Given the description of an element on the screen output the (x, y) to click on. 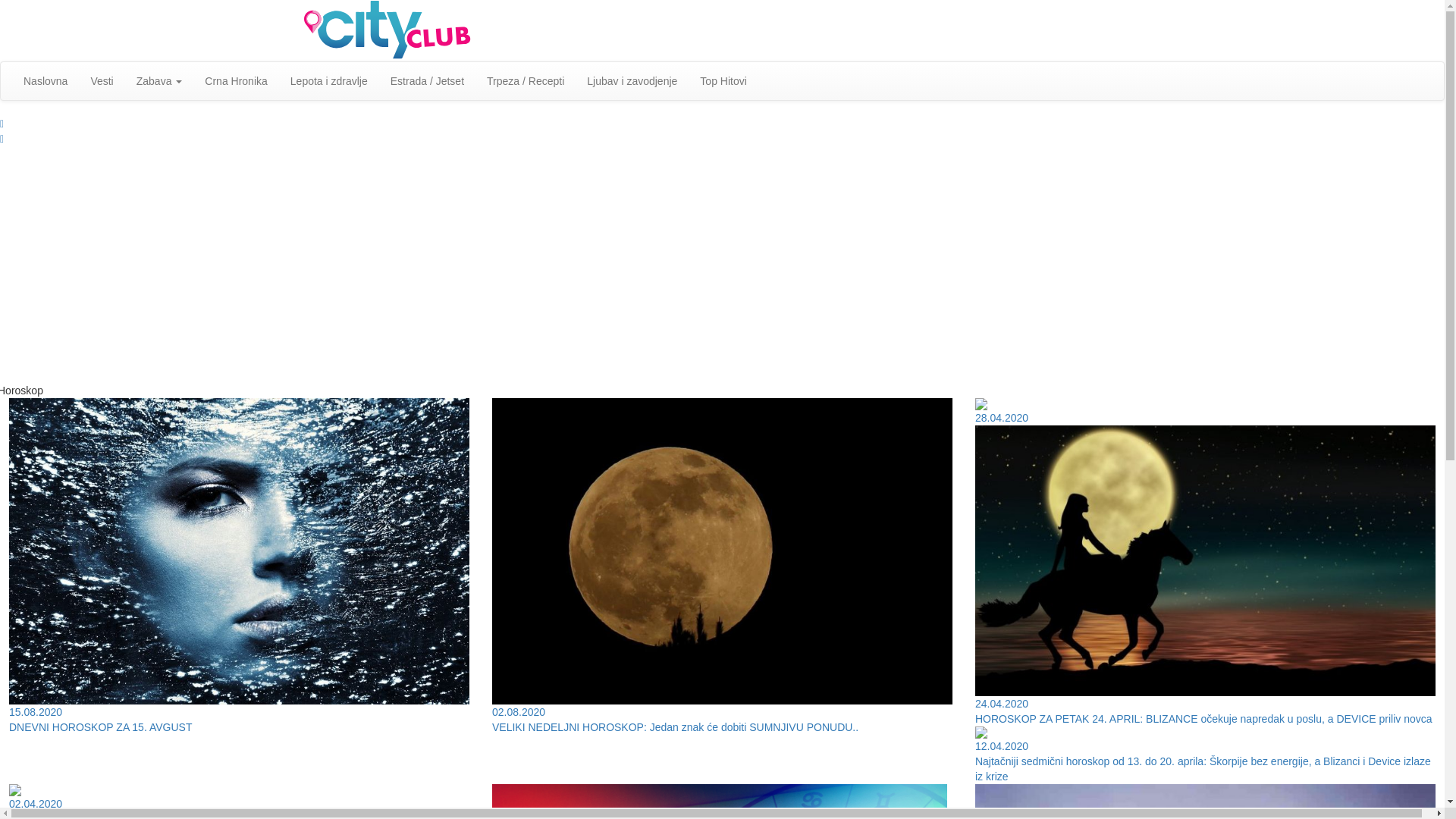
Crna Hronika Element type: text (235, 81)
15.08.2020
DNEVNI HOROSKOP ZA 15. AVGUST Element type: text (239, 566)
Vesti Element type: text (101, 81)
Estrada / Jetset Element type: text (427, 81)
Ljubav i zavodjenje Element type: text (631, 81)
Top Hitovi Element type: text (722, 81)
Naslovna Element type: text (45, 81)
Trpeza / Recepti Element type: text (525, 81)
Lepota i zdravlje Element type: text (329, 81)
Zabava Element type: text (159, 81)
28.04.2020 Element type: text (1205, 411)
